Given the description of an element on the screen output the (x, y) to click on. 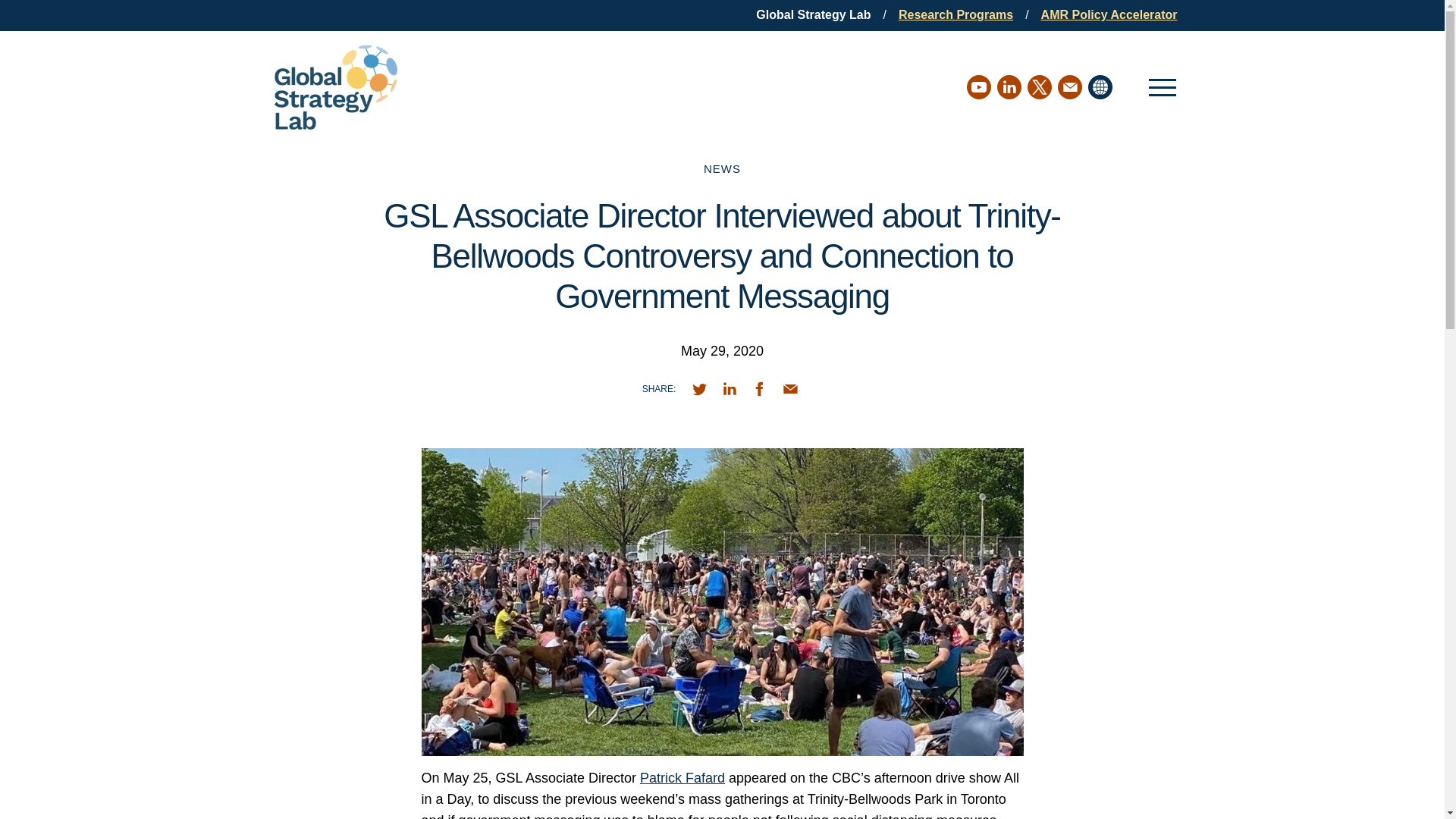
YouTube (978, 87)
LinkedIn (1007, 87)
X (1038, 87)
Research Programs (955, 14)
Expand menu (1161, 87)
Global Strategy Lab (812, 14)
Mail (1069, 87)
AMR Policy Accelerator (1109, 14)
